Given the description of an element on the screen output the (x, y) to click on. 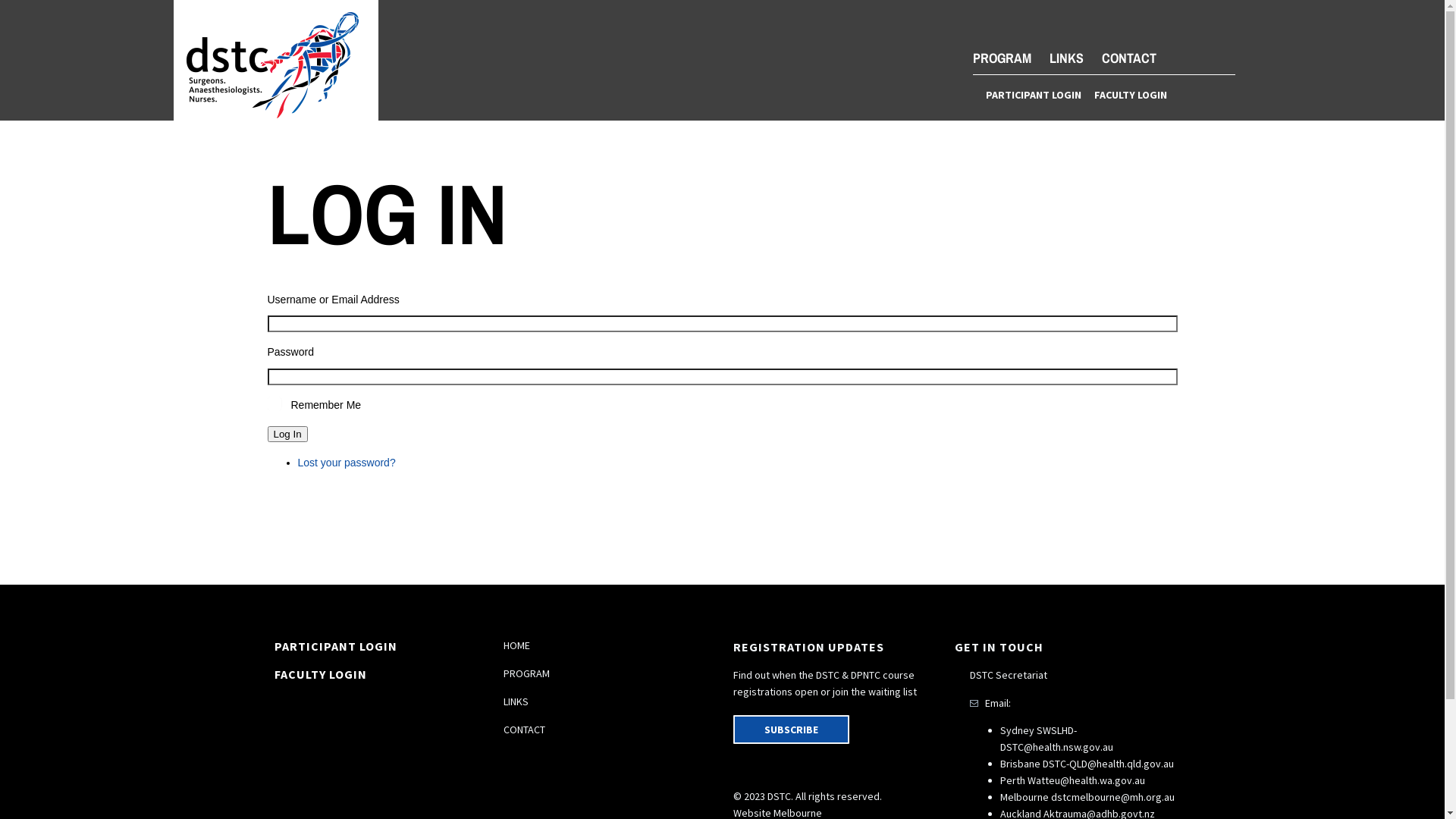
FACULTY LOGIN Element type: text (320, 673)
PARTICIPANT LOGIN Element type: text (335, 645)
PROGRAM Element type: text (1001, 57)
dstcmelbourne@mh.org.au Element type: text (1112, 796)
Watteu@health.wa.gov.au Element type: text (1085, 780)
CONTACT Element type: text (1128, 57)
CONTACT Element type: text (524, 729)
FACULTY LOGIN Element type: text (1129, 94)
PROGRAM Element type: text (526, 673)
PARTICIPANT LOGIN Element type: text (1033, 94)
SUBSCRIBE Element type: text (790, 729)
DSTC Element type: text (274, 64)
DSTC-QLD@health.qld.gov.au Element type: text (1107, 763)
Log In Element type: text (286, 434)
SWSLHD-DSTC@health.nsw.gov.au Element type: text (1055, 738)
HOME Element type: text (516, 645)
LINKS Element type: text (1066, 57)
Lost your password? Element type: text (346, 462)
LINKS Element type: text (515, 701)
